Given the description of an element on the screen output the (x, y) to click on. 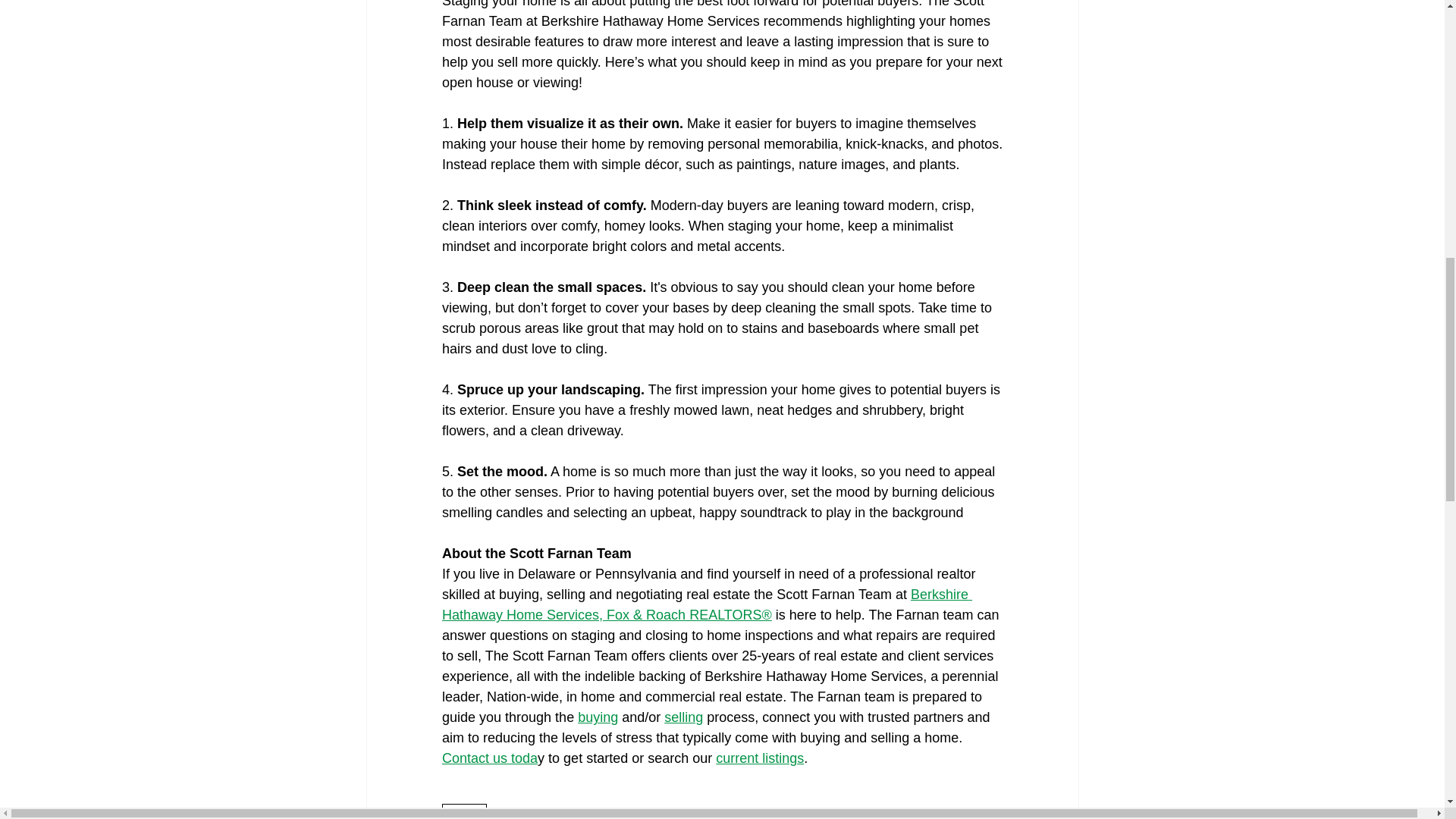
Contact us toda (489, 758)
seller (463, 811)
buying (597, 717)
selling (683, 717)
current listings (759, 758)
